Given the description of an element on the screen output the (x, y) to click on. 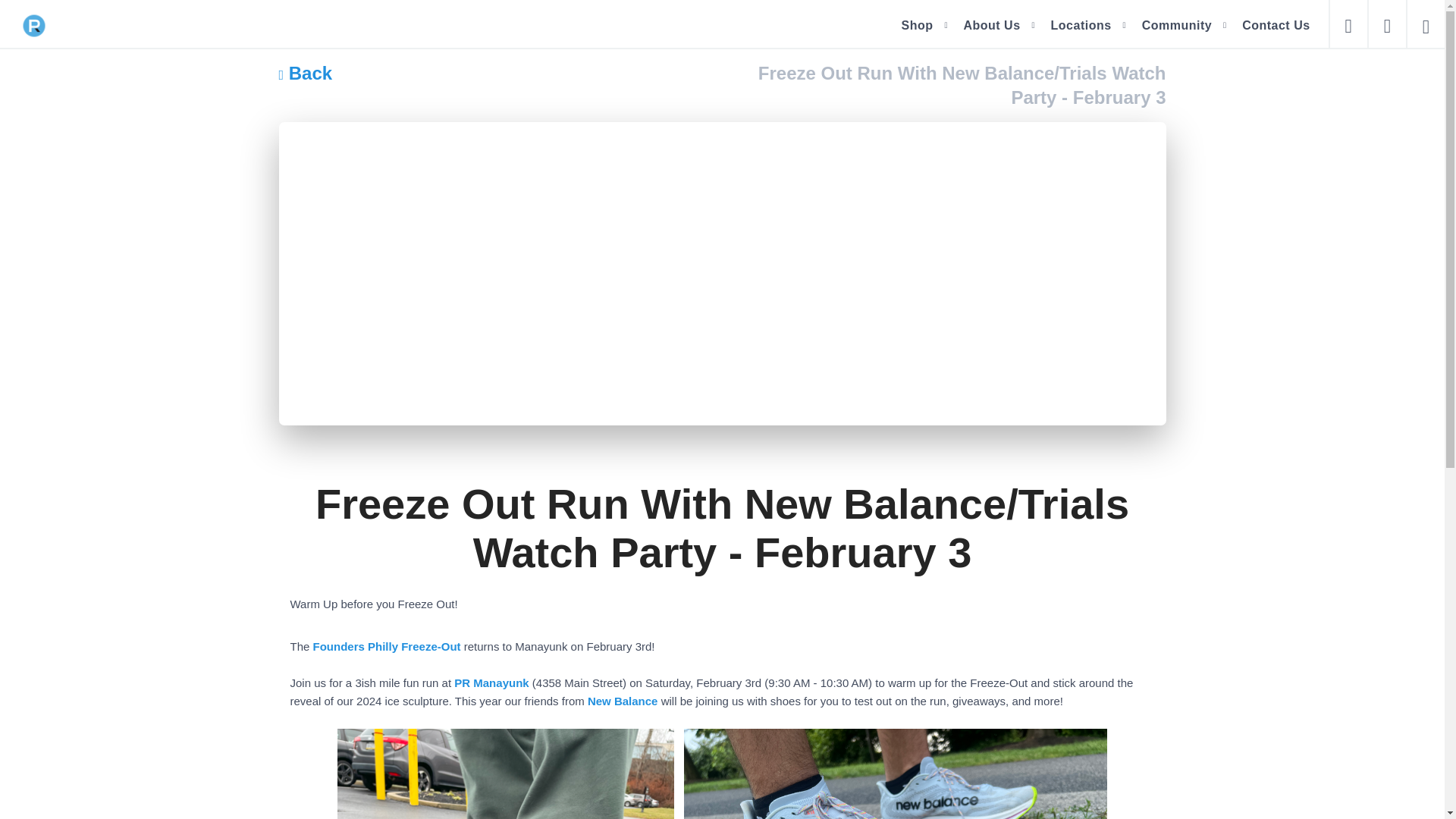
Founders Philly Freeze-Out (387, 645)
New Balance (623, 700)
About Us (991, 24)
Shop (917, 24)
Contact Us (1274, 24)
Community (1176, 24)
Back (306, 73)
Locations (1081, 24)
PR Manayunk (491, 682)
